Given the description of an element on the screen output the (x, y) to click on. 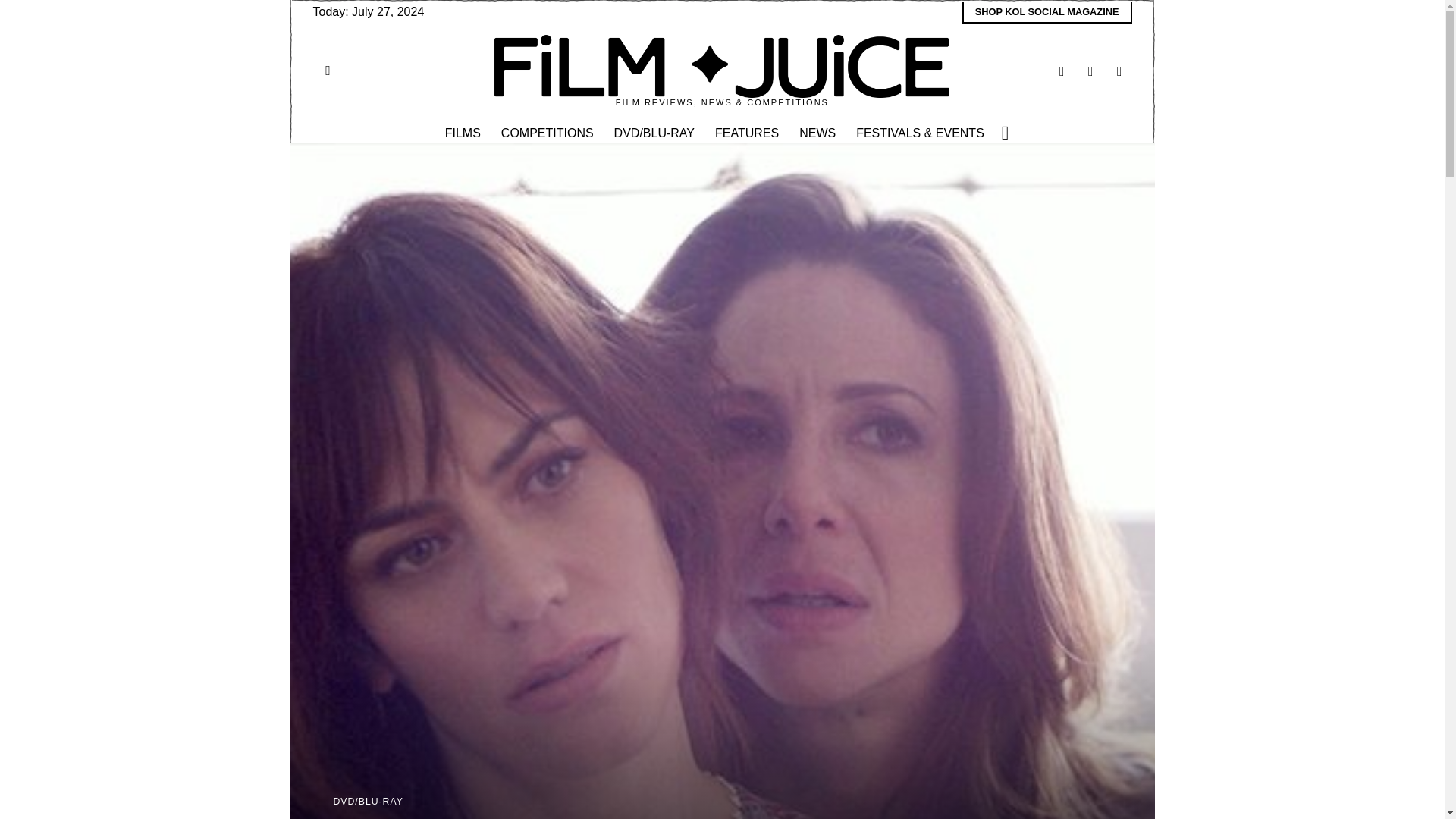
FEATURES (748, 132)
FILMS (463, 132)
SHOP KOL SOCIAL MAGAZINE (1047, 11)
COMPETITIONS (548, 132)
NEWS (818, 132)
